Given the description of an element on the screen output the (x, y) to click on. 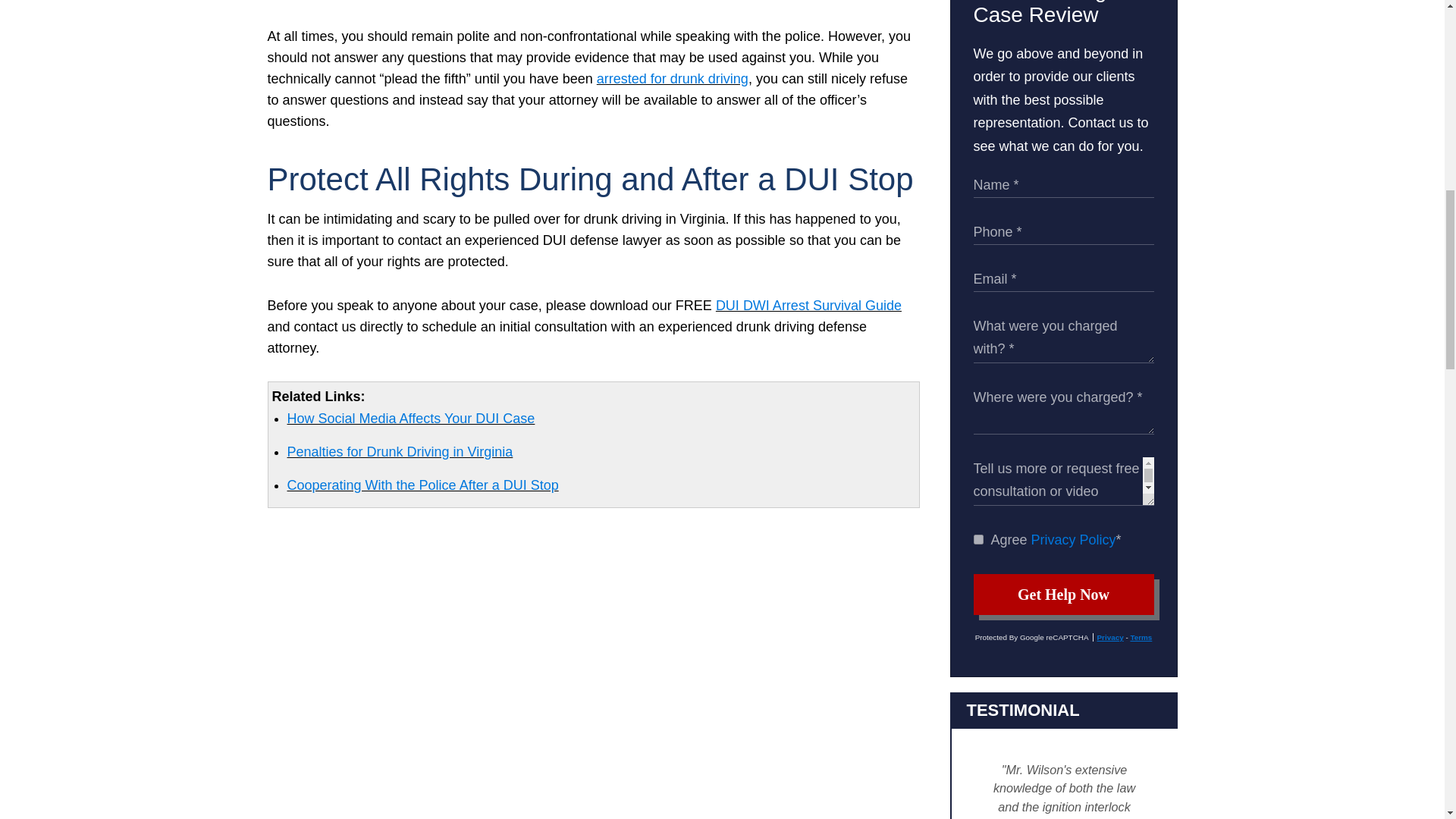
DUI DWI Arrest Survival Guide (808, 305)
Penalties for Drunk Driving in Virginia (399, 451)
Cooperating With the Police After a DUI Stop (421, 485)
How Social Media Affects Your DUI Case (410, 418)
1 (979, 539)
arrested for drunk driving (672, 78)
